Given the description of an element on the screen output the (x, y) to click on. 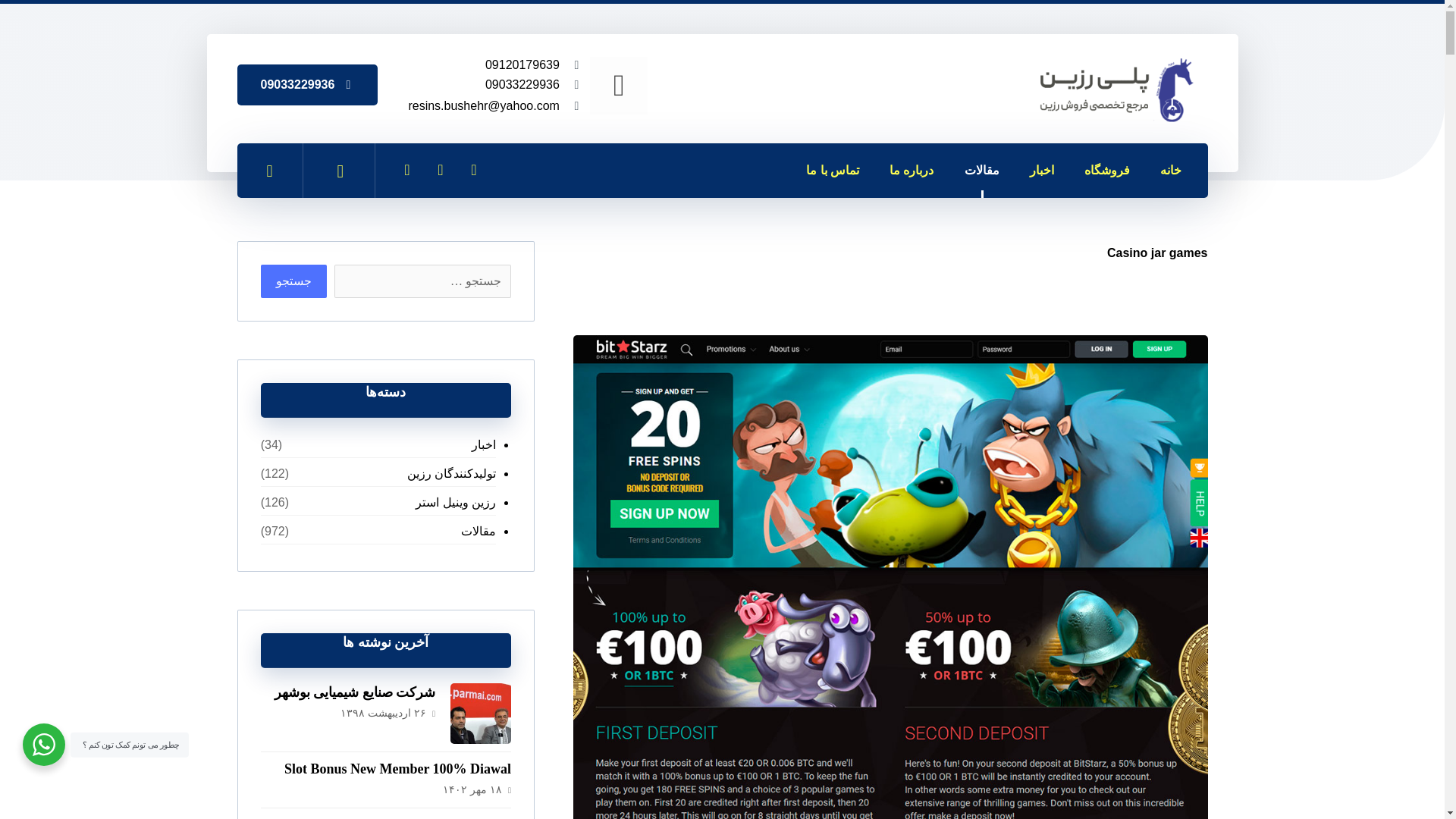
09033229936 (521, 83)
09120179639 (521, 64)
Casino jar games (1157, 252)
09033229936 (307, 84)
Casino jar games, quick hits fever slot machine online (992, 162)
